Given the description of an element on the screen output the (x, y) to click on. 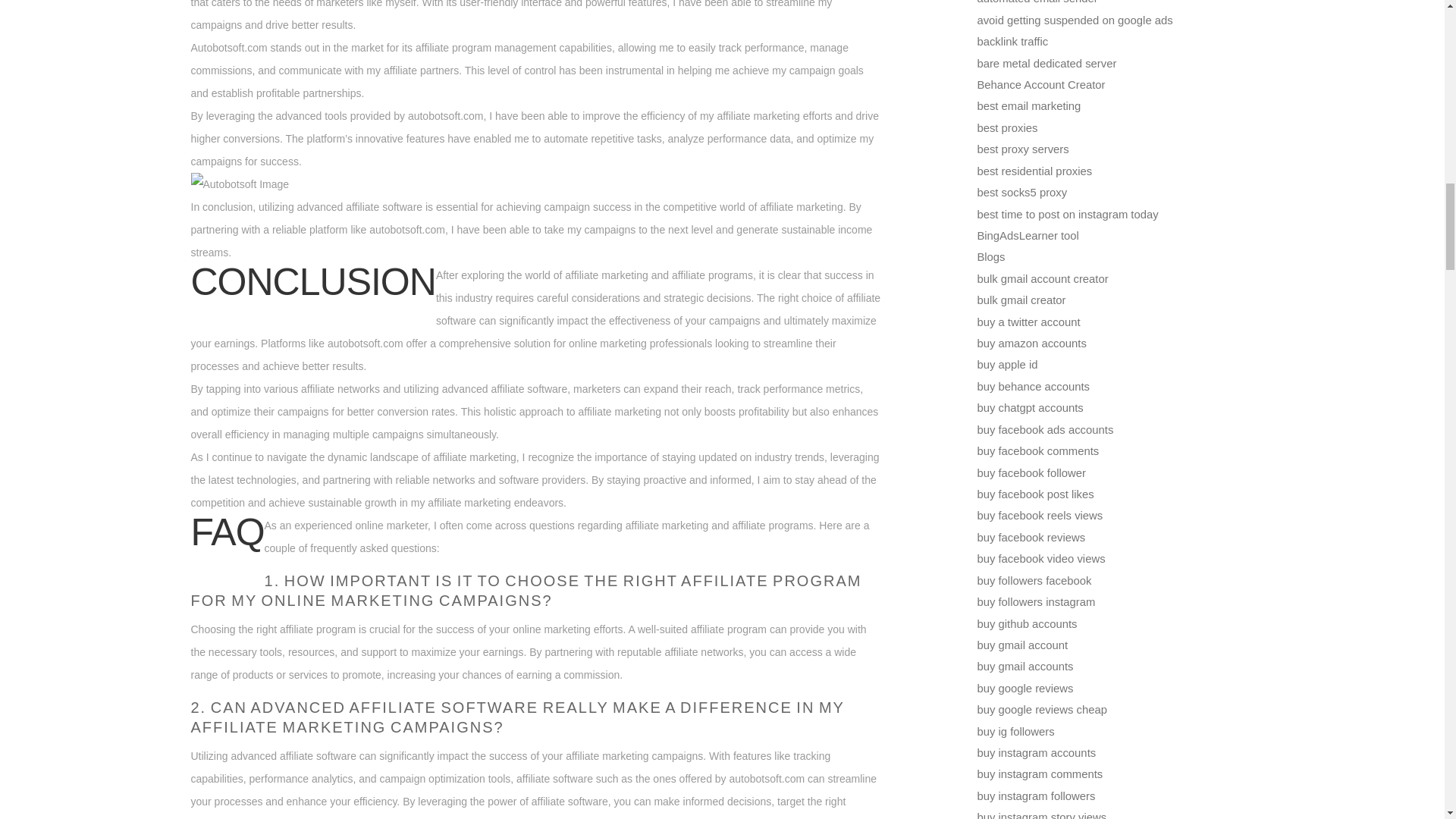
avoid getting suspended on google ads (1074, 20)
automated email sender (1036, 2)
backlink traffic (1012, 41)
